Given the description of an element on the screen output the (x, y) to click on. 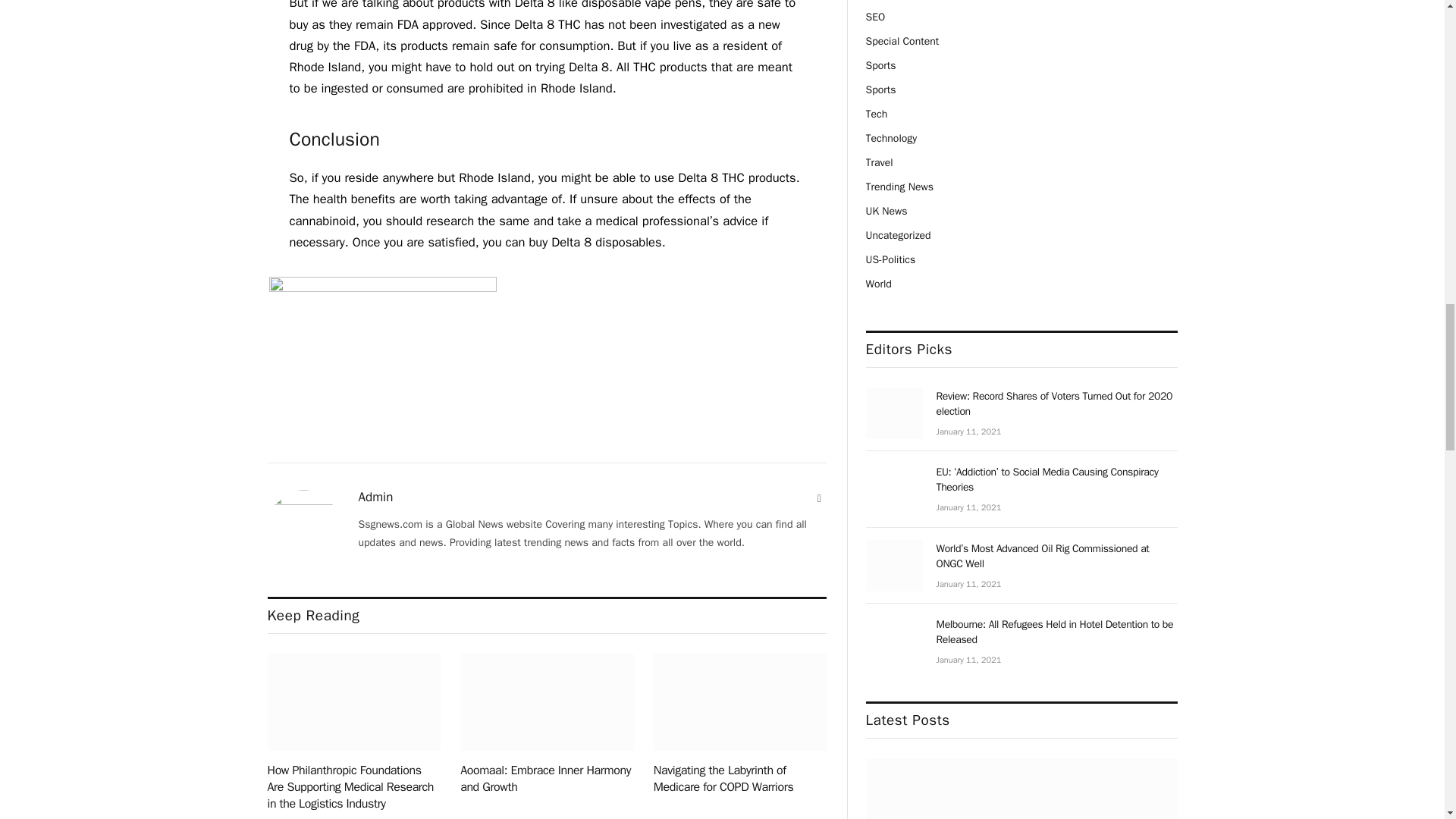
Website (818, 498)
Posts by Admin (375, 497)
